Given the description of an element on the screen output the (x, y) to click on. 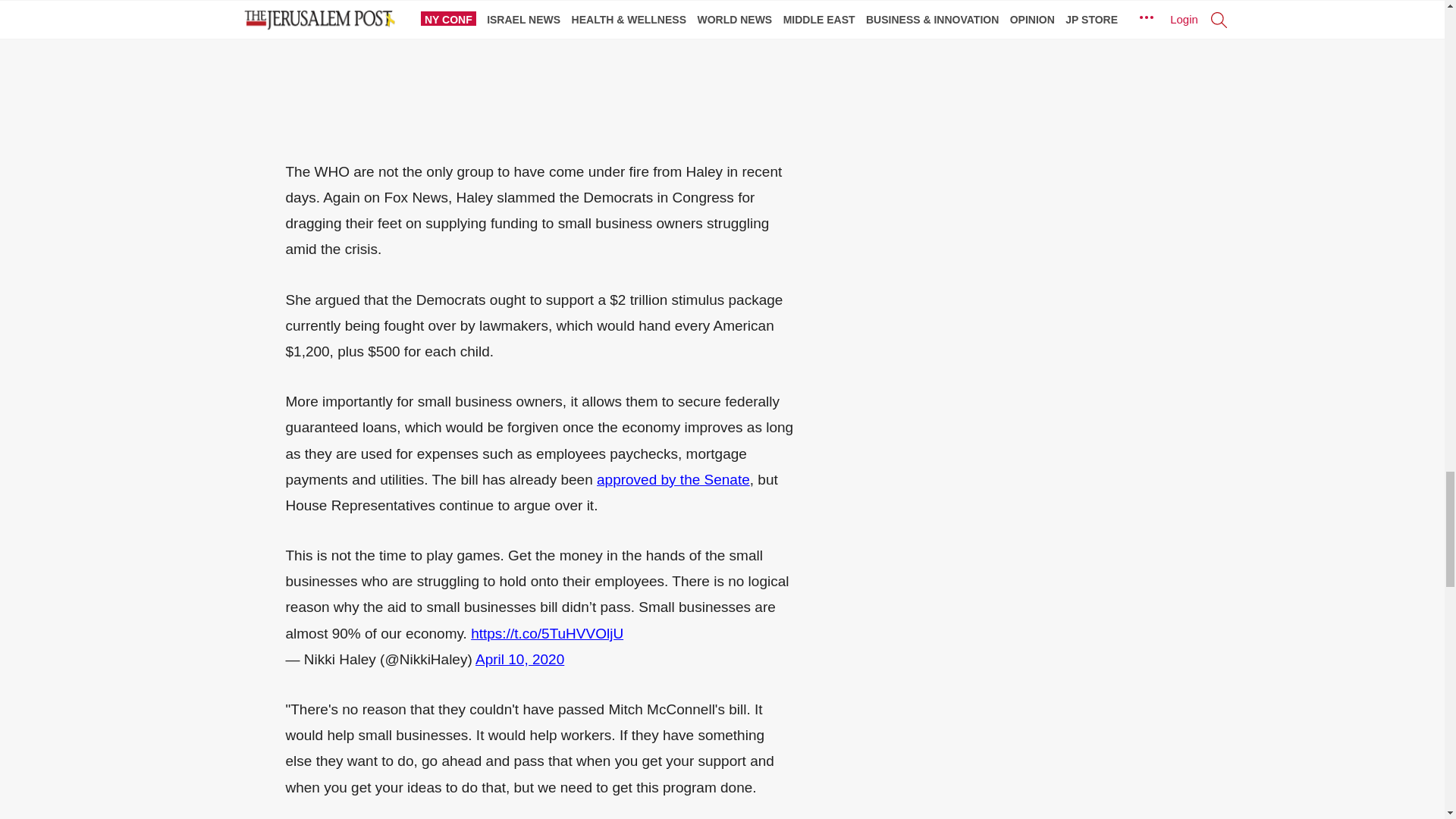
approved by the Senate (672, 479)
April 10, 2020 (520, 659)
